Given the description of an element on the screen output the (x, y) to click on. 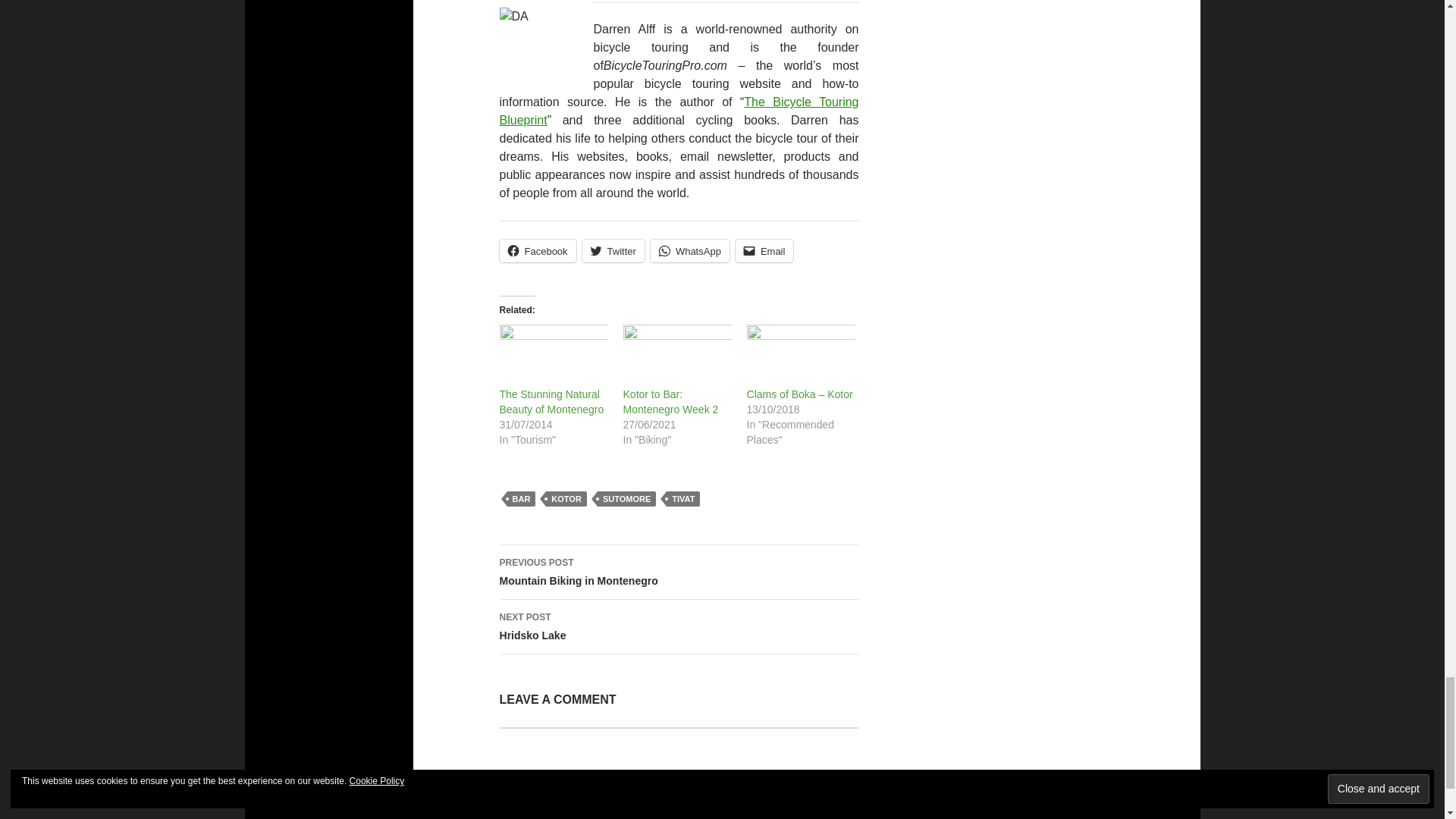
Click to share on WhatsApp (689, 250)
Click to email a link to a friend (764, 250)
Click to share on Facebook (537, 250)
Kotor to Bar: Montenegro Week 2 (677, 355)
Click to share on Twitter (613, 250)
The Stunning Natural Beauty of Montenegro (553, 355)
The Stunning Natural Beauty of Montenegro (551, 401)
